Given the description of an element on the screen output the (x, y) to click on. 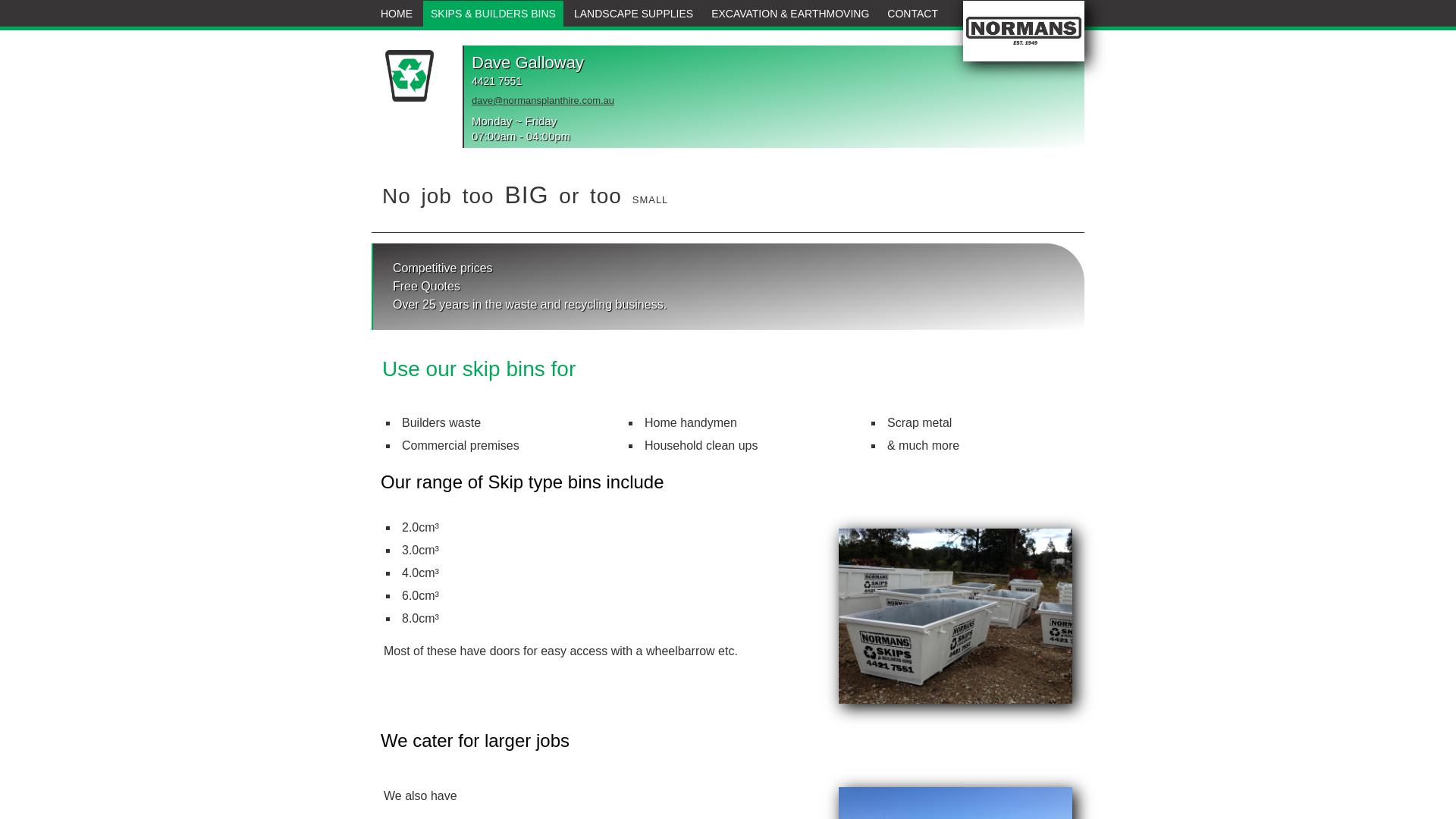
HOME Element type: text (396, 13)
LANDSCAPE SUPPLIES Element type: text (633, 13)
dave@normansplanthire.com.au Element type: text (542, 100)
CONTACT Element type: text (912, 13)
EXCAVATION & EARTHMOVING Element type: text (789, 13)
SKIPS & BUILDERS BINS Element type: text (493, 13)
